Given the description of an element on the screen output the (x, y) to click on. 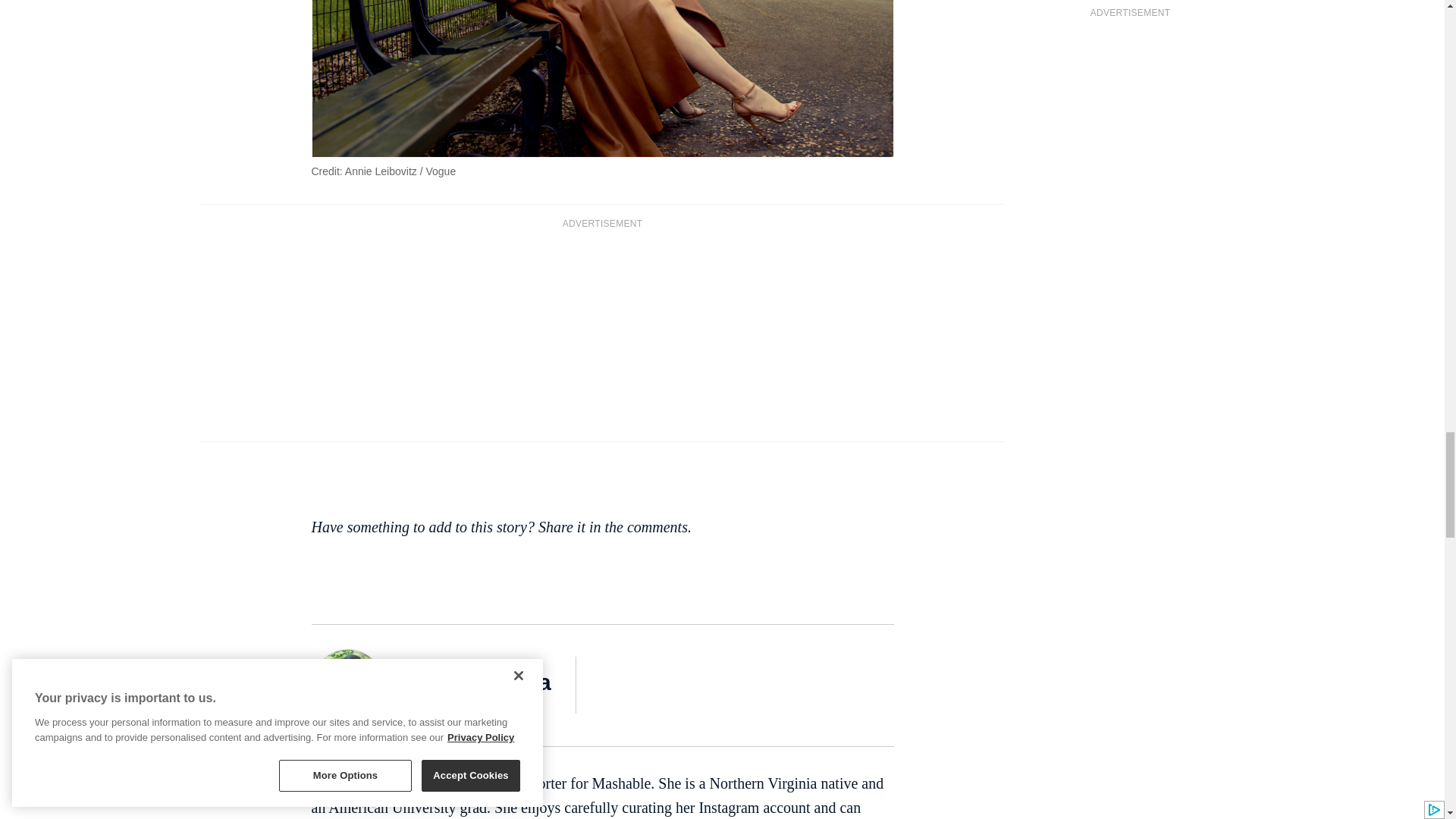
3rd party ad content (601, 333)
